Given the description of an element on the screen output the (x, y) to click on. 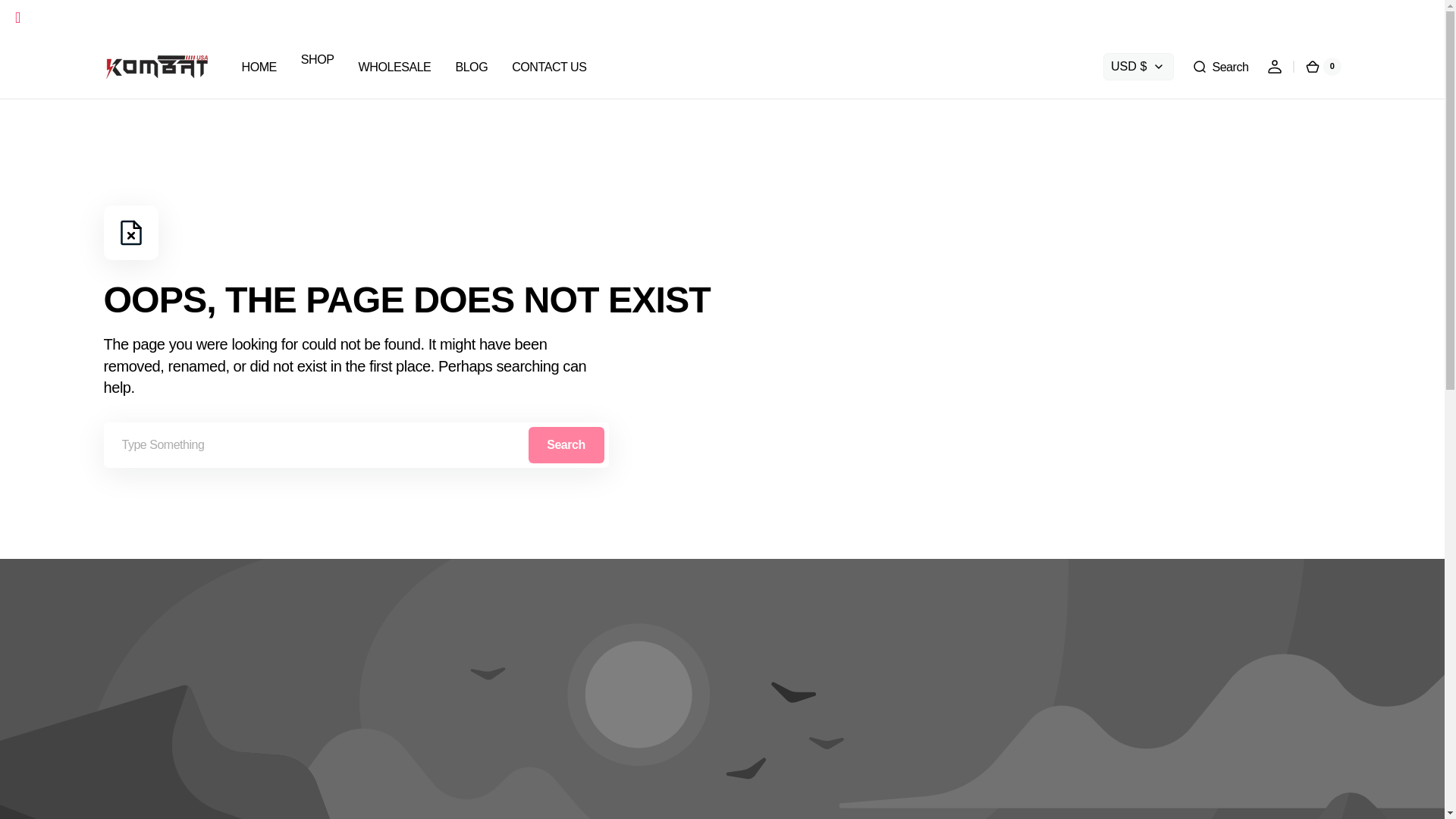
WHOLESALE (394, 65)
USAMMA (51, 16)
BLOG (470, 65)
Skip to content (37, 18)
HOME (257, 65)
USA MMA (51, 16)
STRATEGIC ACADEMY (146, 16)
SHOP (318, 59)
CONTACT US (548, 65)
STRATEGIC ACADEMY (146, 16)
WARRIOR (240, 16)
